Given the description of an element on the screen output the (x, y) to click on. 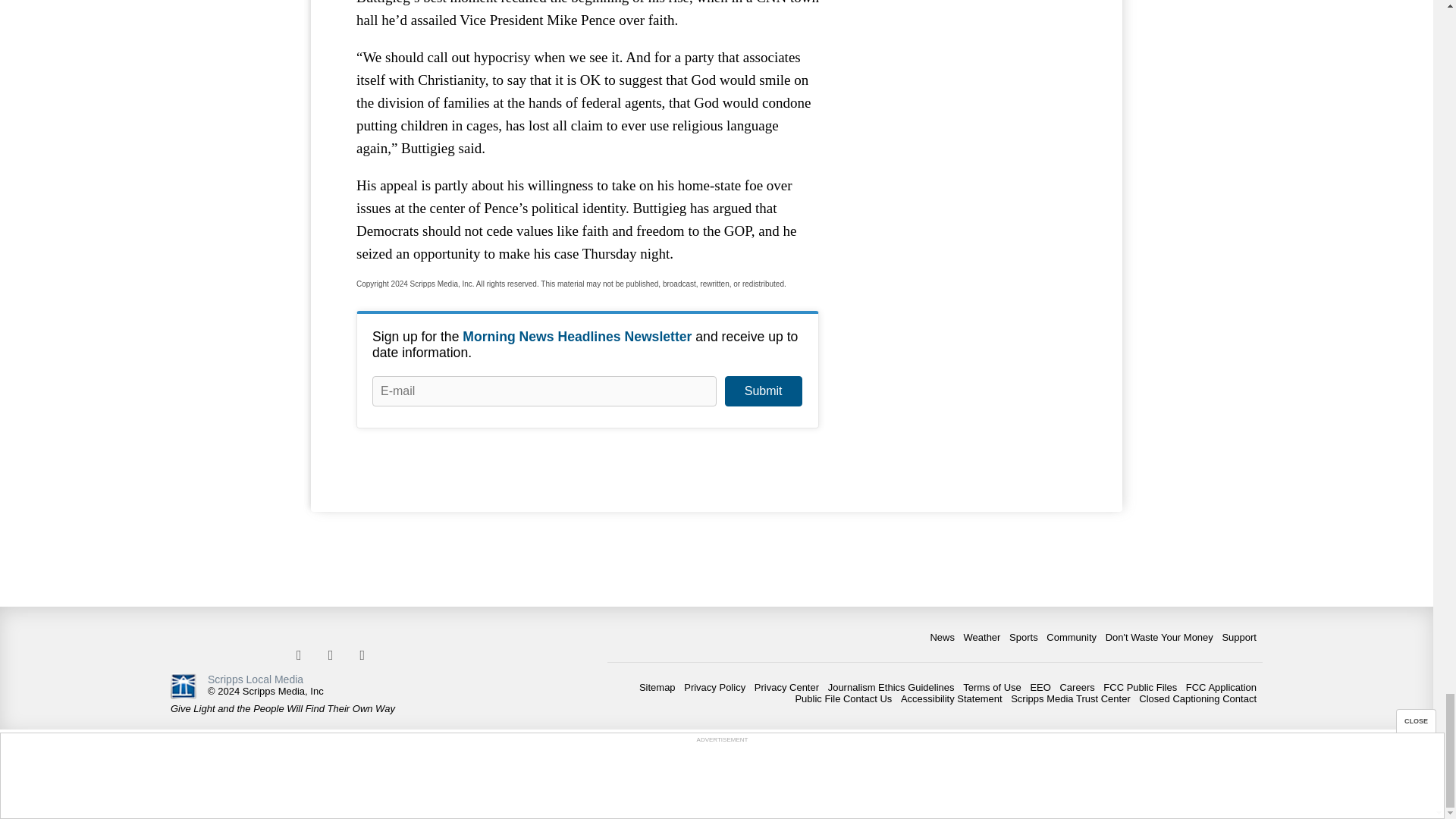
Submit (763, 390)
